Given the description of an element on the screen output the (x, y) to click on. 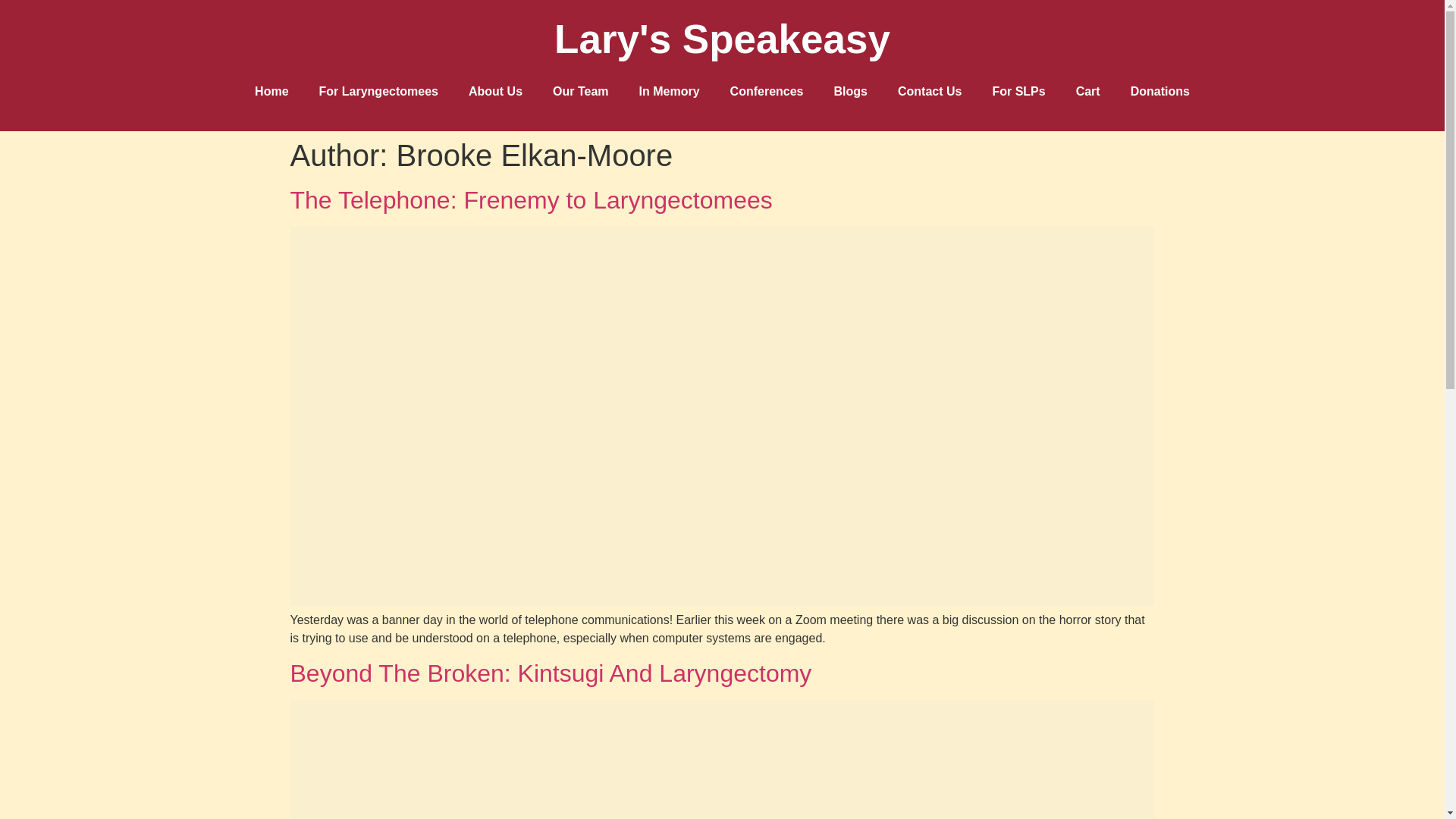
In Memory (669, 91)
Donations (1160, 91)
Blogs (850, 91)
For SLPs (1017, 91)
About Us (494, 91)
Conferences (766, 91)
Our Team (580, 91)
Home (271, 91)
Cart (1088, 91)
Contact Us (929, 91)
For Laryngectomees (378, 91)
